Given the description of an element on the screen output the (x, y) to click on. 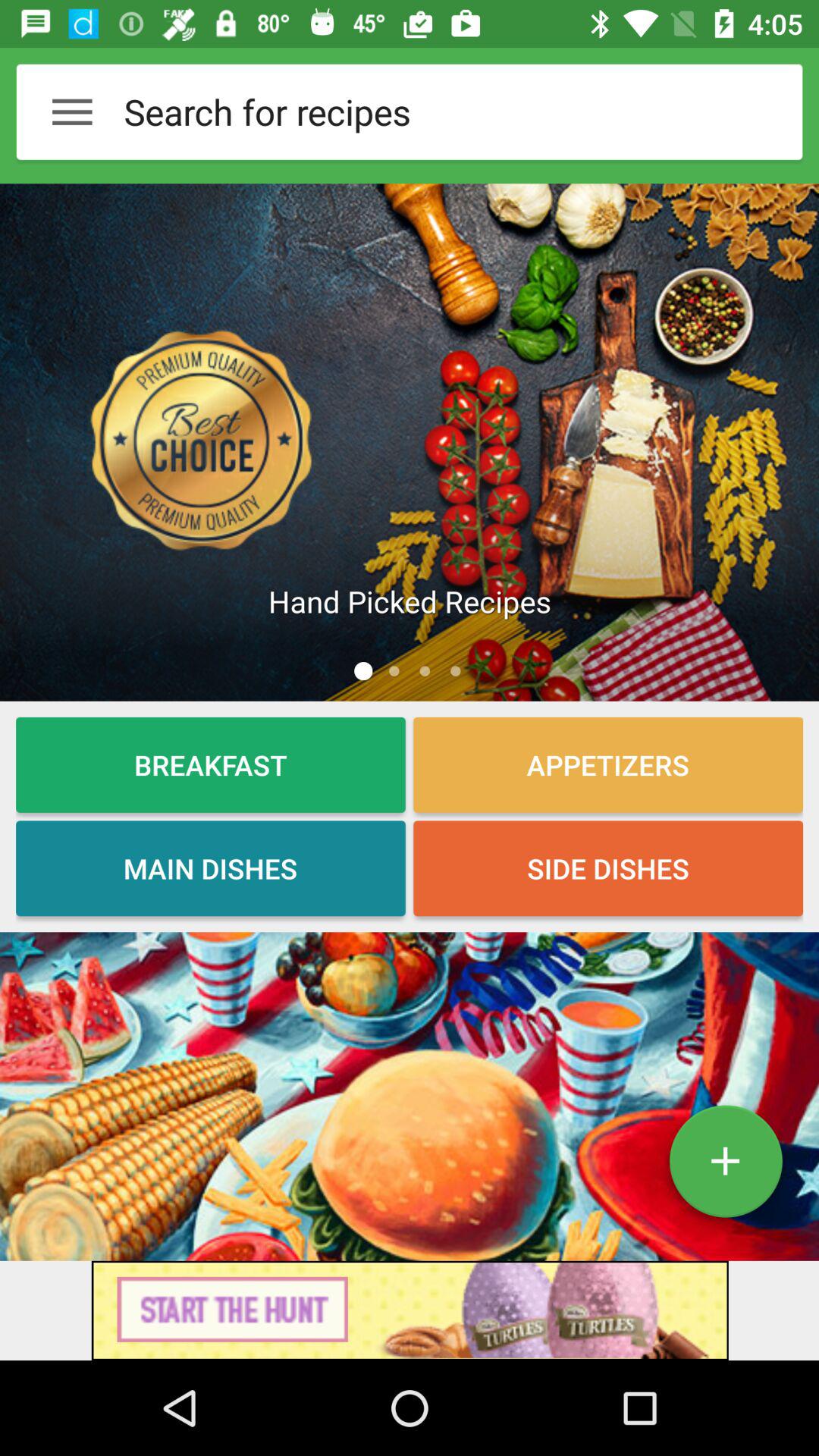
go to article (409, 442)
